Given the description of an element on the screen output the (x, y) to click on. 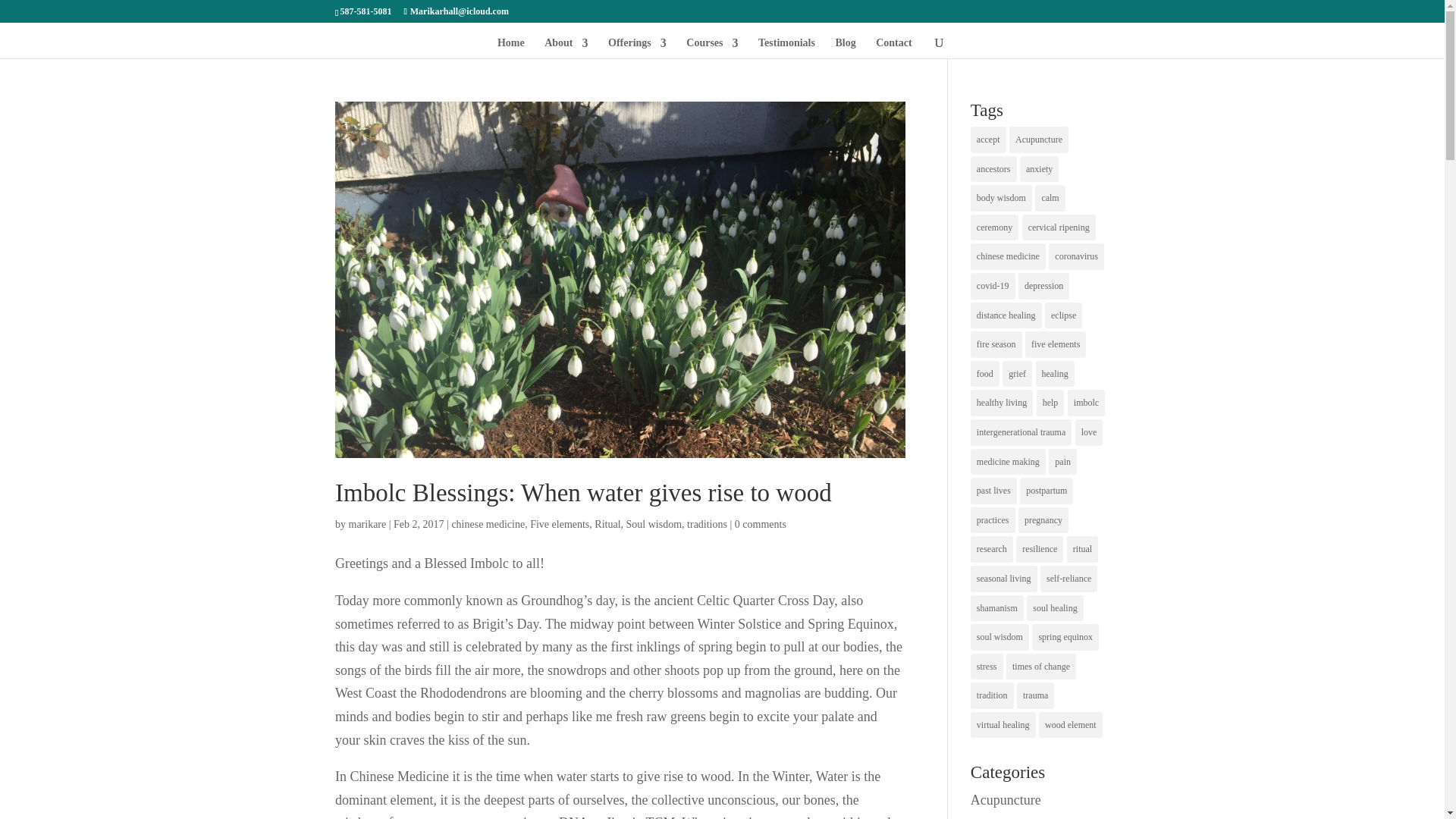
About (566, 47)
Soul wisdom (654, 523)
Five elements (559, 523)
Offerings (637, 47)
Contact (893, 47)
Home (510, 47)
chinese medicine (487, 523)
Blog (845, 47)
Imbolc Blessings: When water gives rise to wood (582, 492)
Testimonials (786, 47)
